Given the description of an element on the screen output the (x, y) to click on. 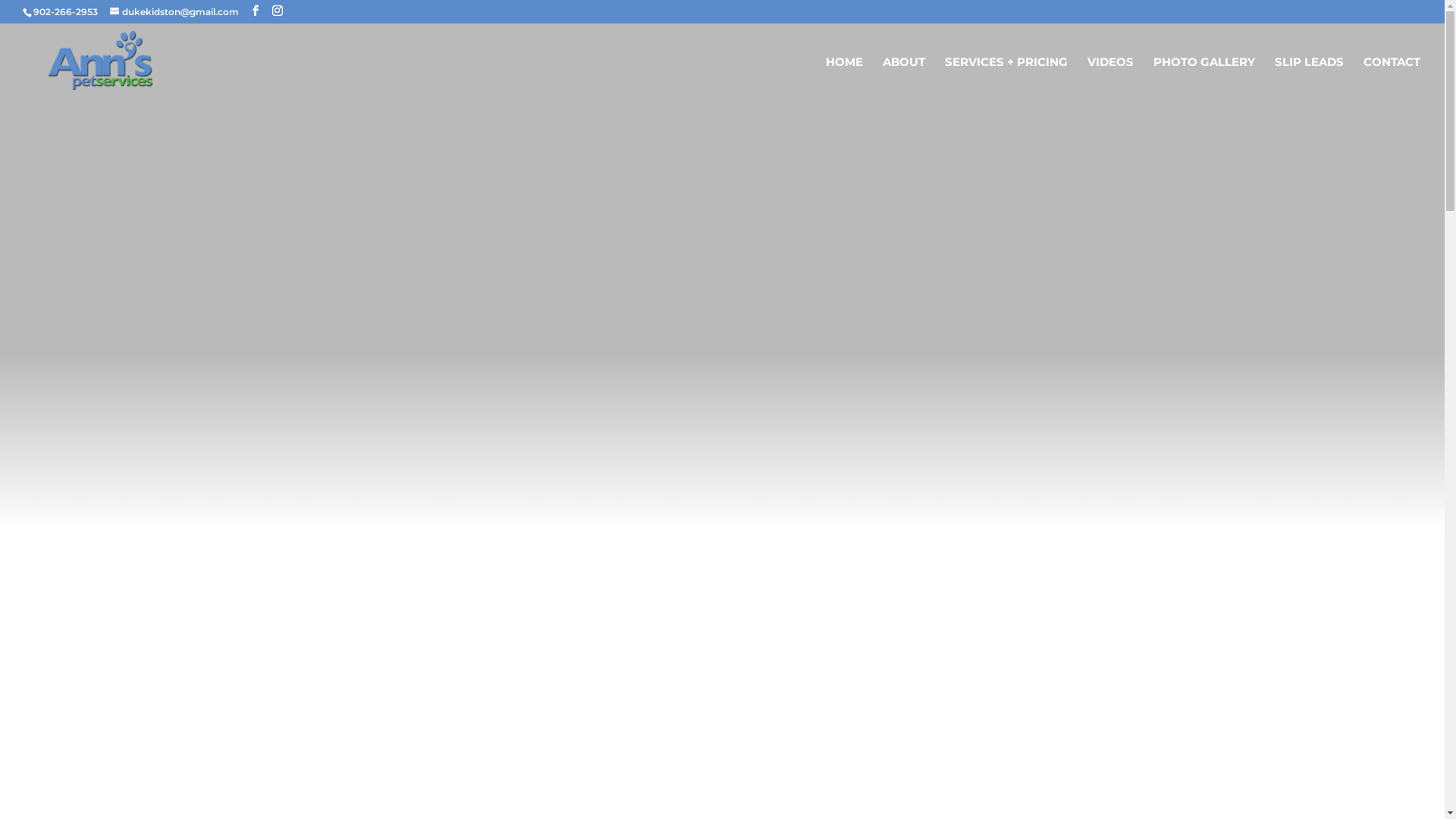
CONTACT Element type: text (1391, 78)
HOME Element type: text (843, 78)
SLIP LEADS Element type: text (1308, 78)
dukekidston@gmail.com Element type: text (173, 11)
SERVICES + PRICING Element type: text (1005, 78)
ABOUT Element type: text (903, 78)
902-266-2953 Element type: text (65, 11)
VIDEOS Element type: text (1110, 78)
PHOTO GALLERY Element type: text (1204, 78)
